Given the description of an element on the screen output the (x, y) to click on. 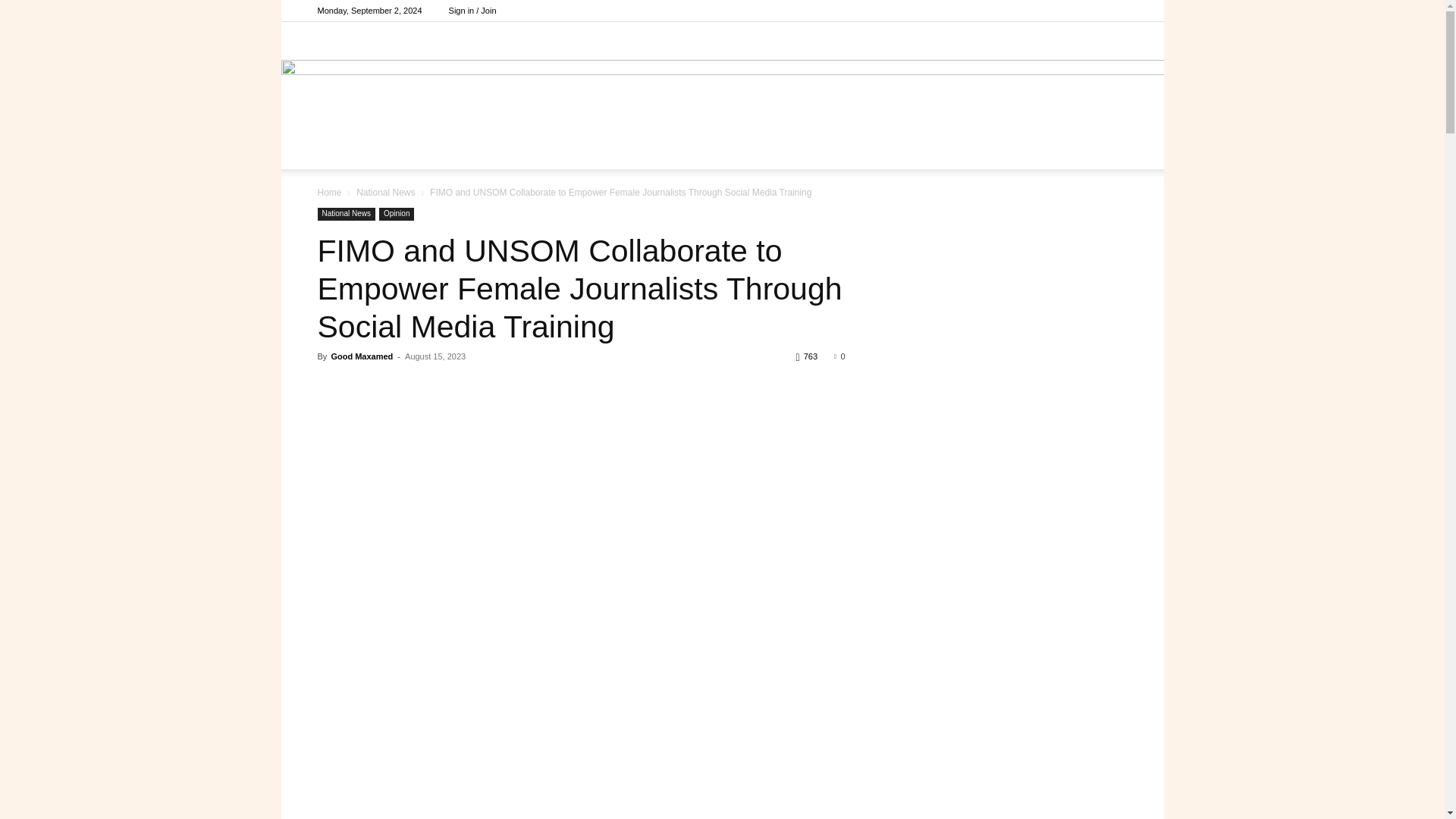
The Horn Tribune (722, 77)
NATIONAL NEWS (573, 149)
WORLD NEWS (676, 149)
HOME (491, 149)
